Given the description of an element on the screen output the (x, y) to click on. 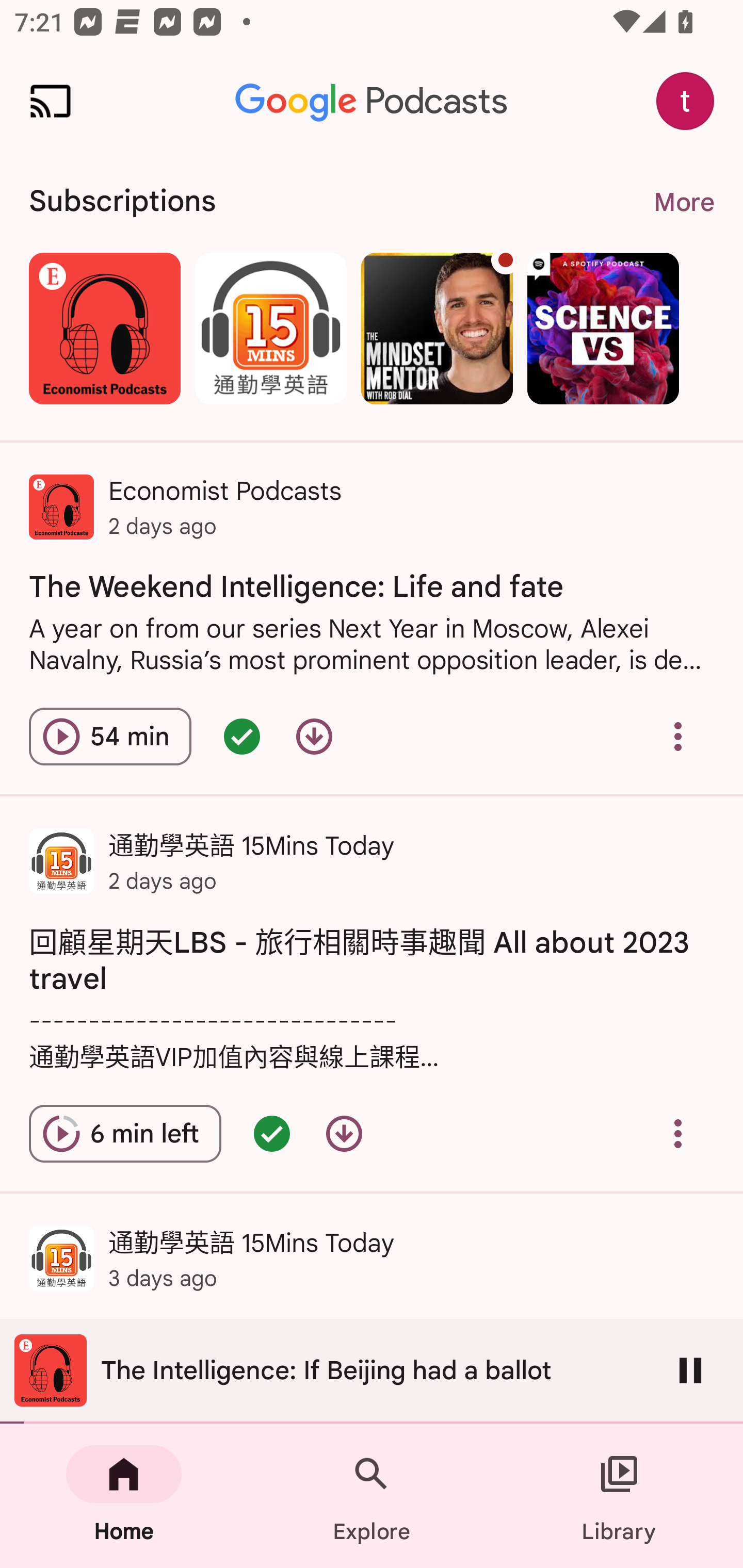
Cast. Disconnected (50, 101)
More More. Navigate to subscriptions page. (683, 202)
Economist Podcasts (104, 328)
通勤學英語 15Mins Today (270, 328)
The Mindset Mentor (436, 328)
Science Vs (603, 328)
Episode queued - double tap for options (241, 736)
Download episode (313, 736)
Overflow menu (677, 736)
Episode queued - double tap for options (271, 1133)
Download episode (344, 1133)
Overflow menu (677, 1133)
Pause (690, 1370)
Explore (371, 1495)
Library (619, 1495)
